Given the description of an element on the screen output the (x, y) to click on. 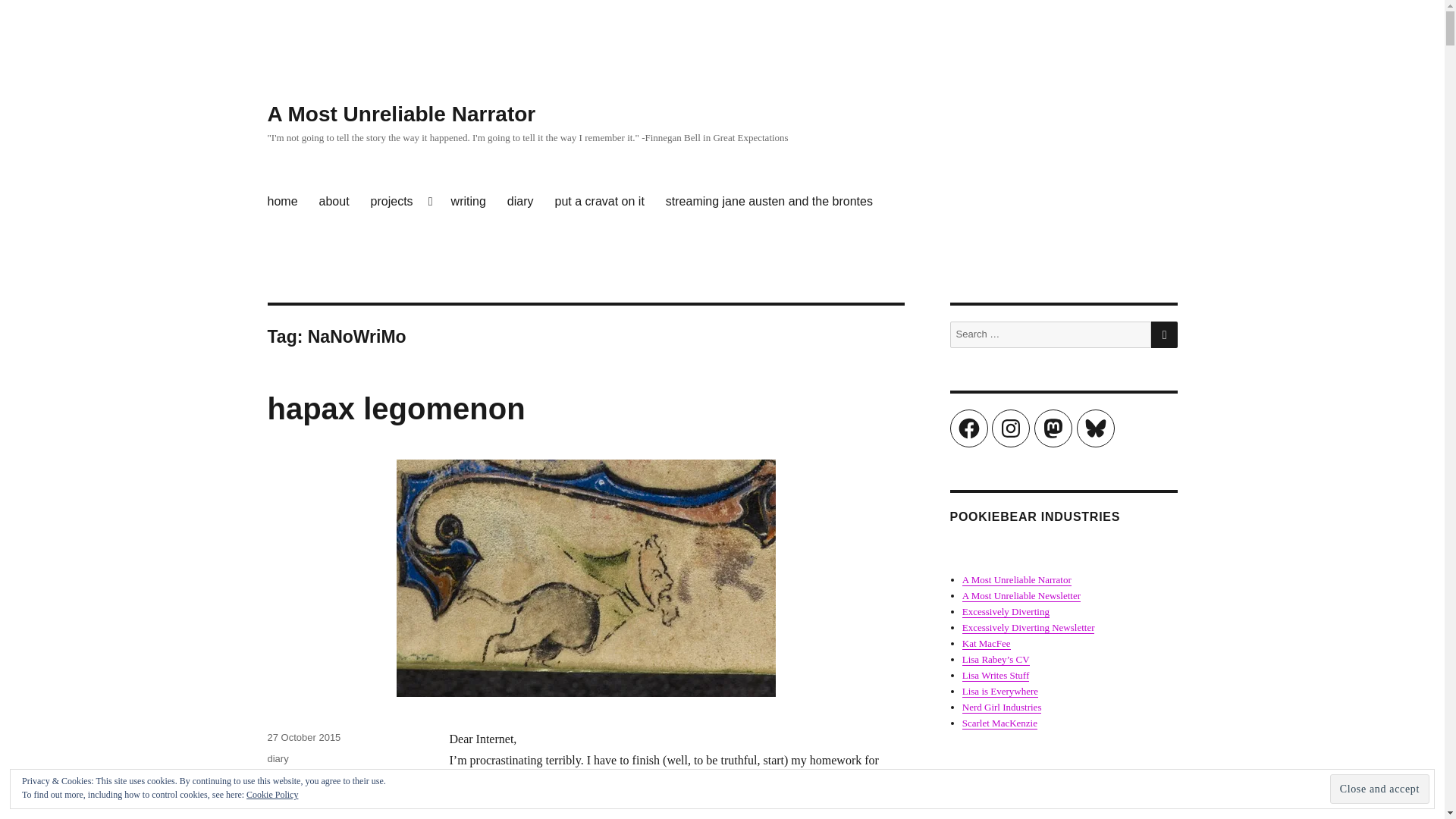
writing (468, 201)
No Flying, No Tights (658, 802)
projects (400, 201)
diary (277, 758)
A Most Unreliable Narrator (400, 114)
hapax legomenon (395, 408)
Louisville (379, 779)
amwriting (287, 779)
diary (520, 201)
No Flying No Tights (326, 812)
home (281, 201)
about (333, 201)
Close and accept (1379, 788)
put a cravat on it (599, 201)
27 October 2015 (303, 737)
